Given the description of an element on the screen output the (x, y) to click on. 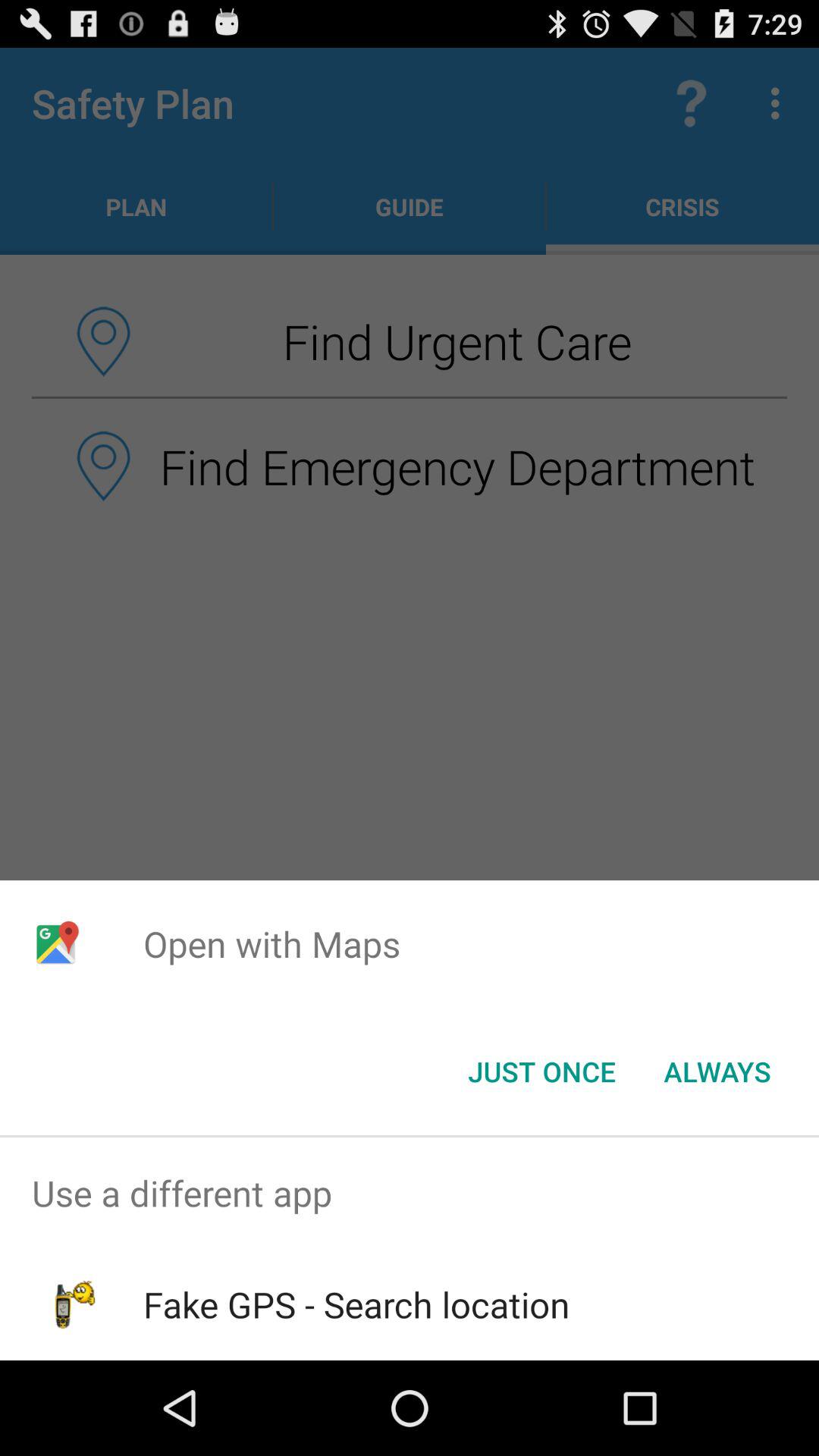
select the app below the open with maps (717, 1071)
